Given the description of an element on the screen output the (x, y) to click on. 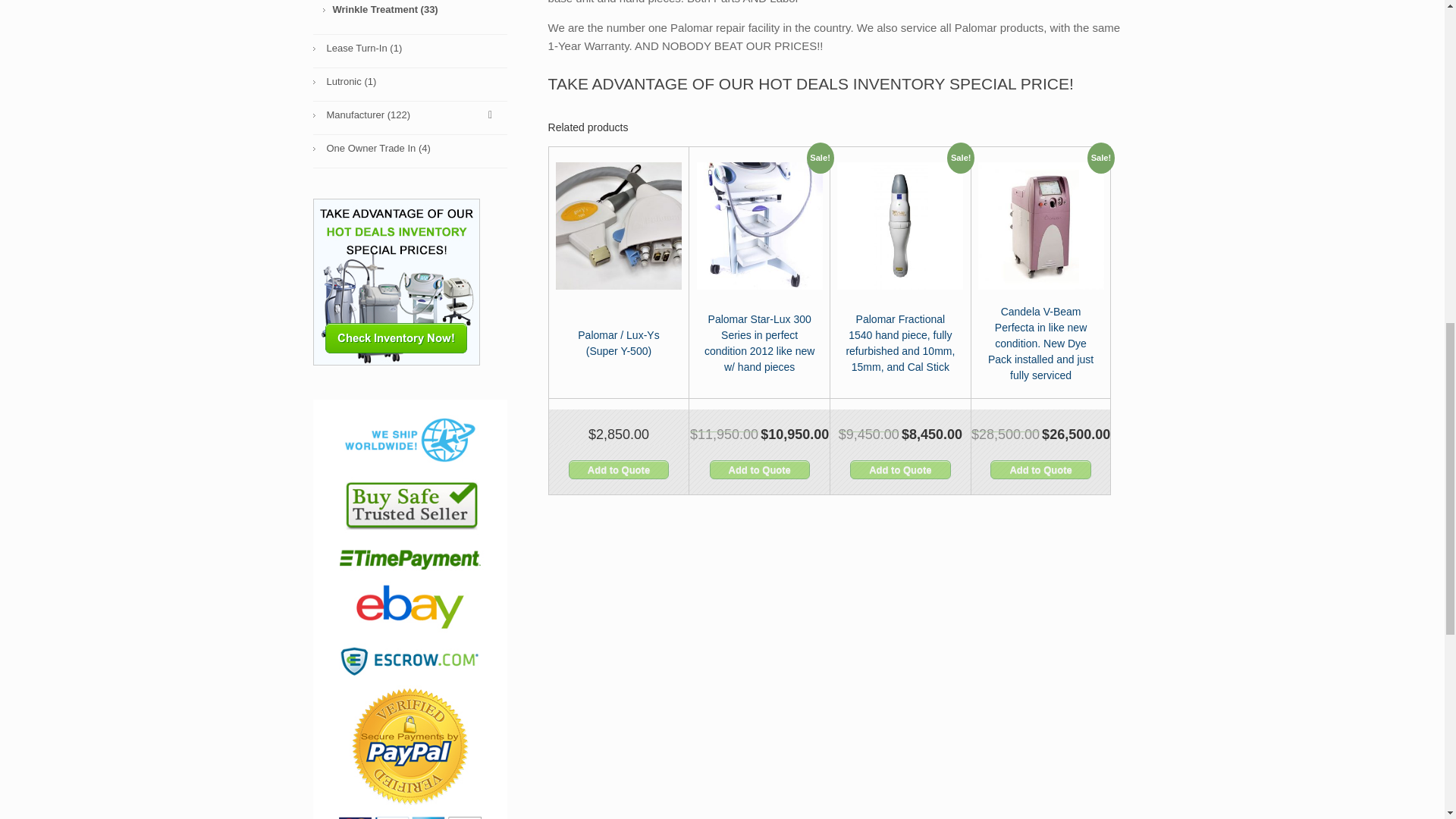
Add to Quote (618, 469)
